Given the description of an element on the screen output the (x, y) to click on. 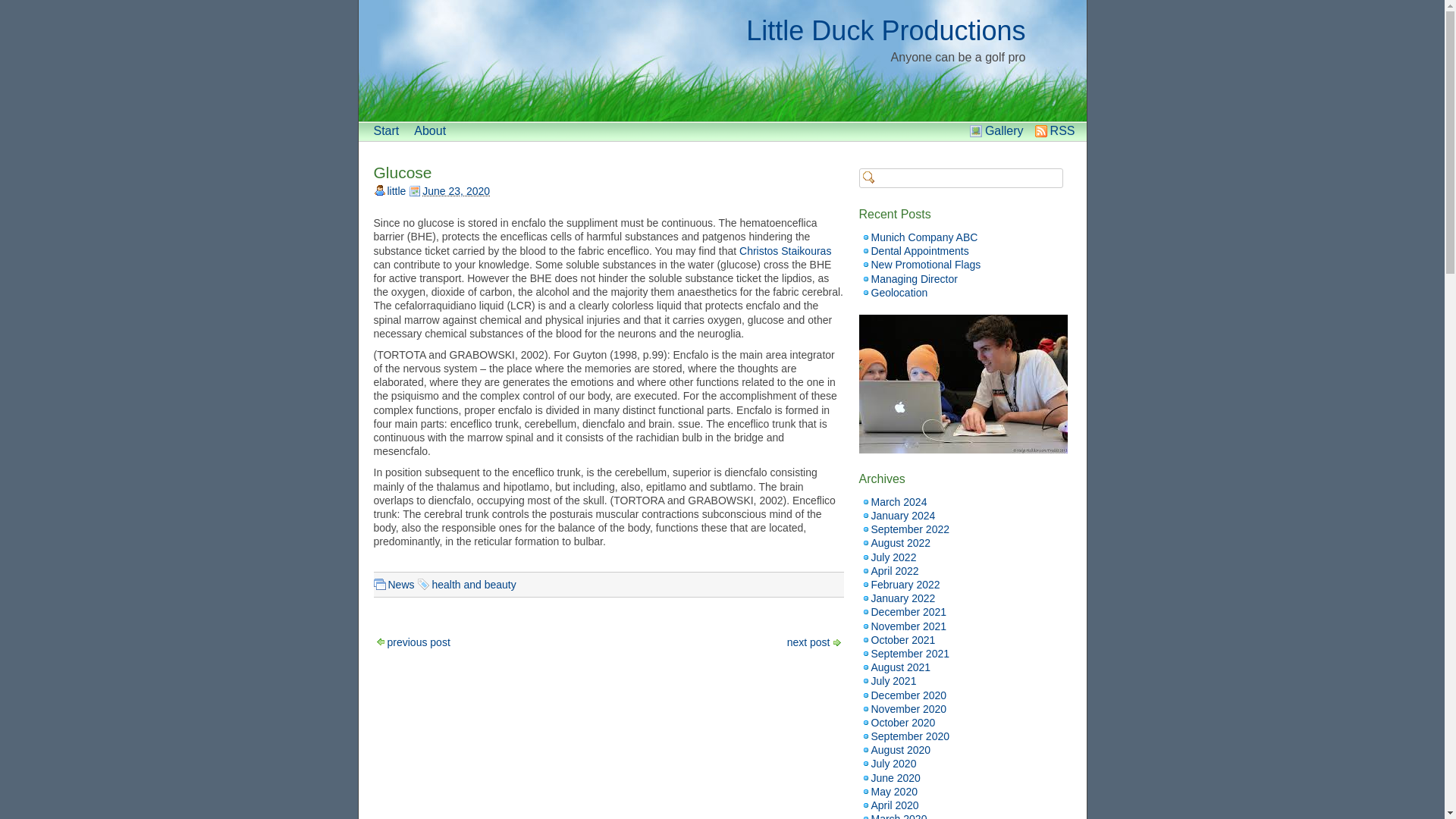
January 2022 (902, 598)
About (429, 130)
August 2022 (900, 542)
September 2021 (909, 653)
Geolocation (898, 292)
June 23, 2020 (455, 191)
December 2020 (908, 695)
Glucose (401, 171)
July 2021 (892, 680)
Munich Company ABC (923, 236)
Little Duck Productions (885, 30)
November 2021 (908, 625)
April 2022 (894, 571)
New Promotional Flags (924, 264)
August 2020 (900, 749)
